Given the description of an element on the screen output the (x, y) to click on. 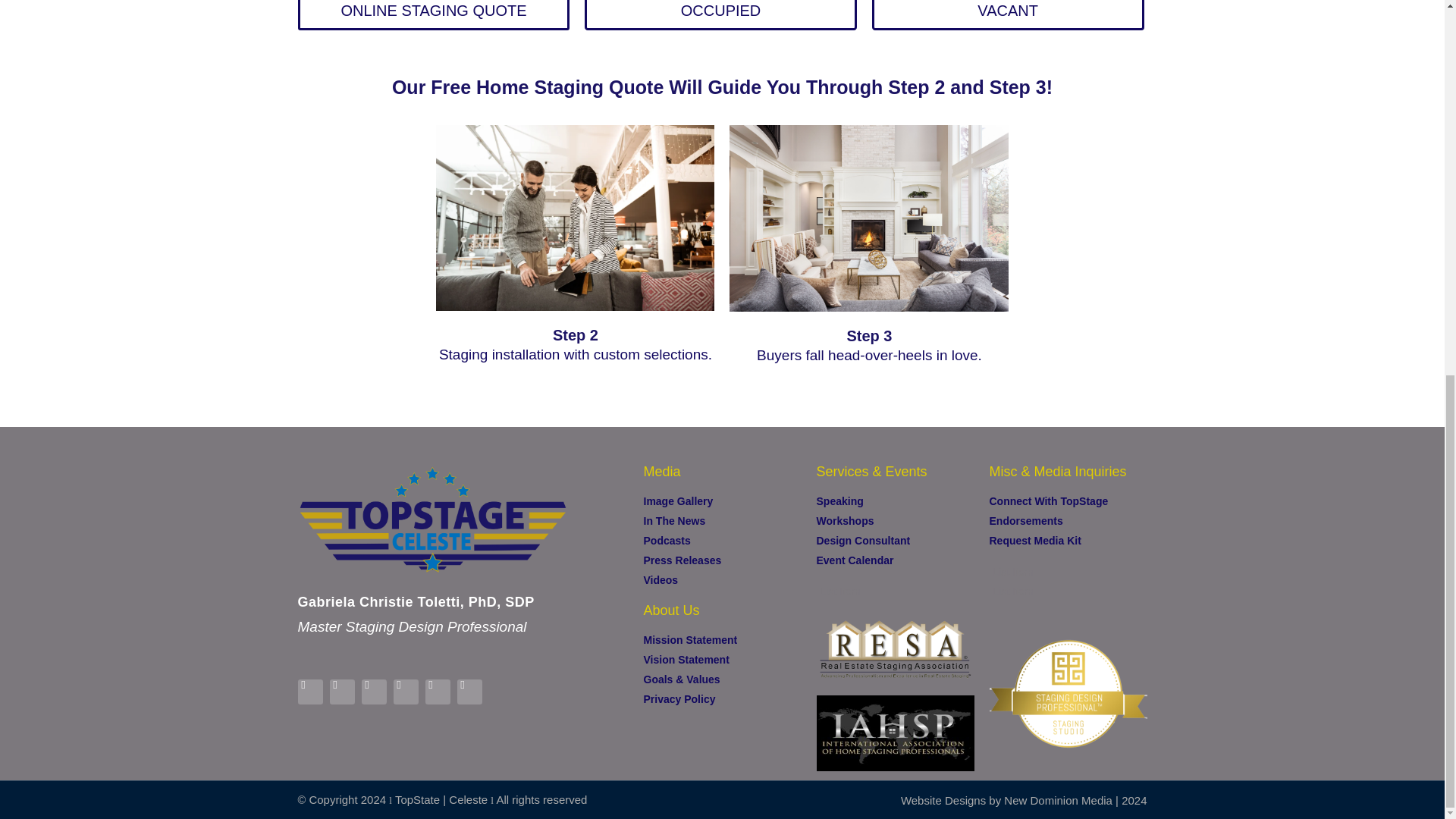
Privacy Policy (721, 699)
VACANT (1008, 15)
Image Gallery (721, 501)
Mission Statement (721, 640)
Event Calendar (894, 560)
ONLINE STAGING QUOTE (433, 15)
Vision Statement (721, 659)
OCCUPIED (720, 15)
